Given the description of an element on the screen output the (x, y) to click on. 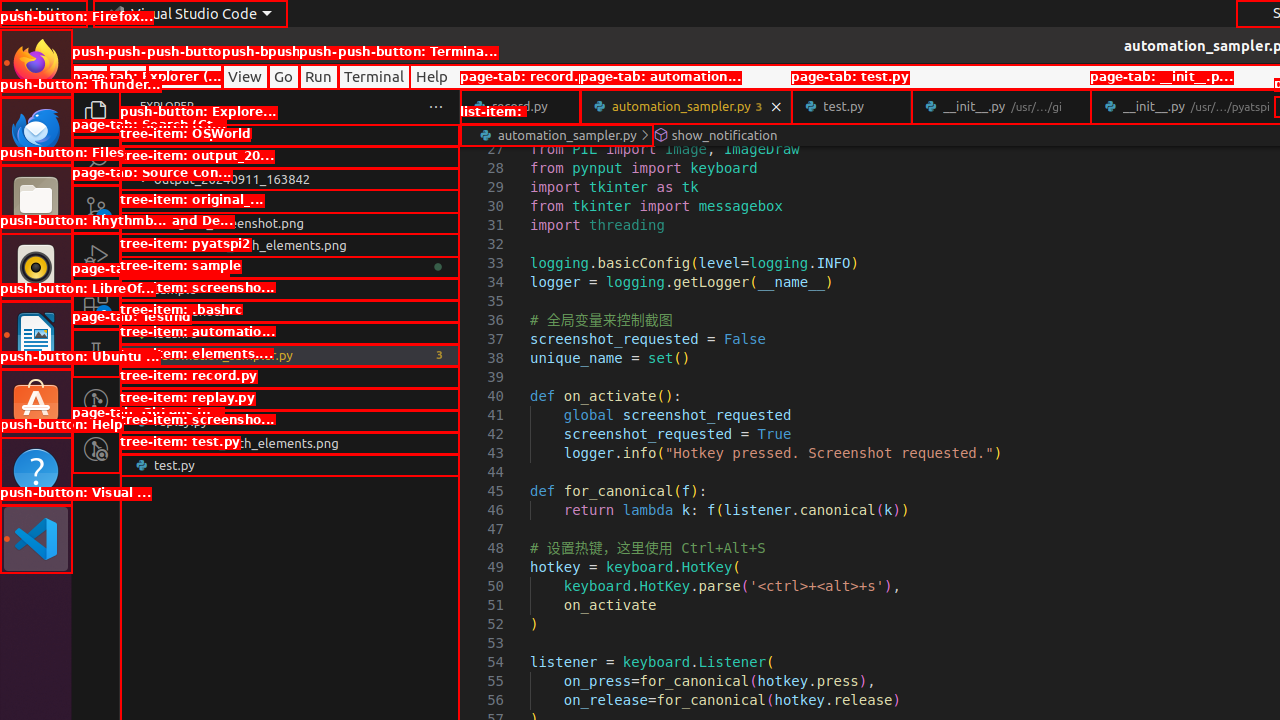
OSWorld Element type: tree-item (289, 157)
screenshots Element type: tree-item (289, 311)
GitLens Inspect Element type: page-tab (96, 449)
